Given the description of an element on the screen output the (x, y) to click on. 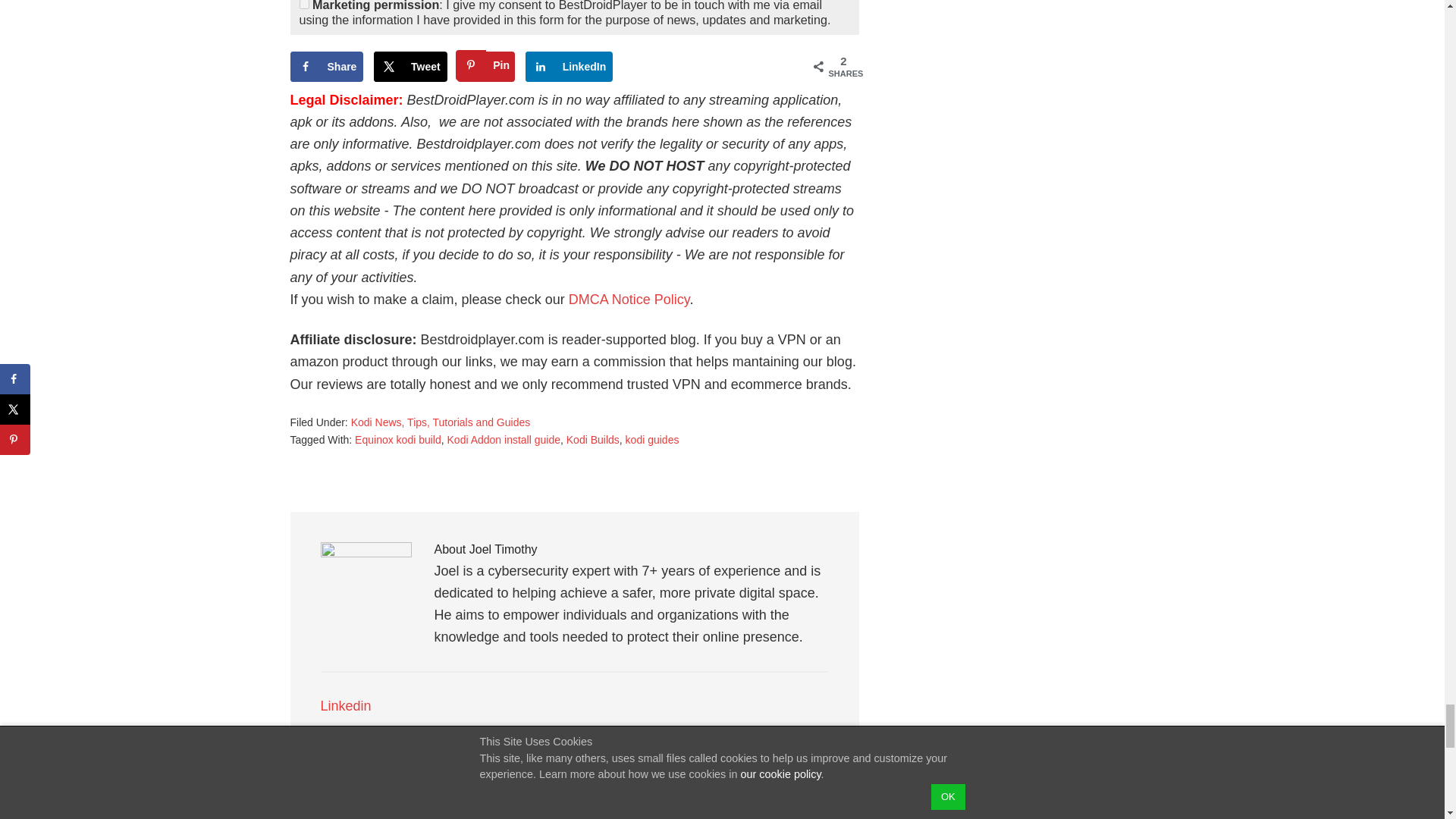
Linkedin (347, 705)
Share on LinkedIn (568, 66)
Share on X (410, 66)
on (303, 4)
Share on Facebook (325, 66)
Save to Pinterest (486, 66)
